Given the description of an element on the screen output the (x, y) to click on. 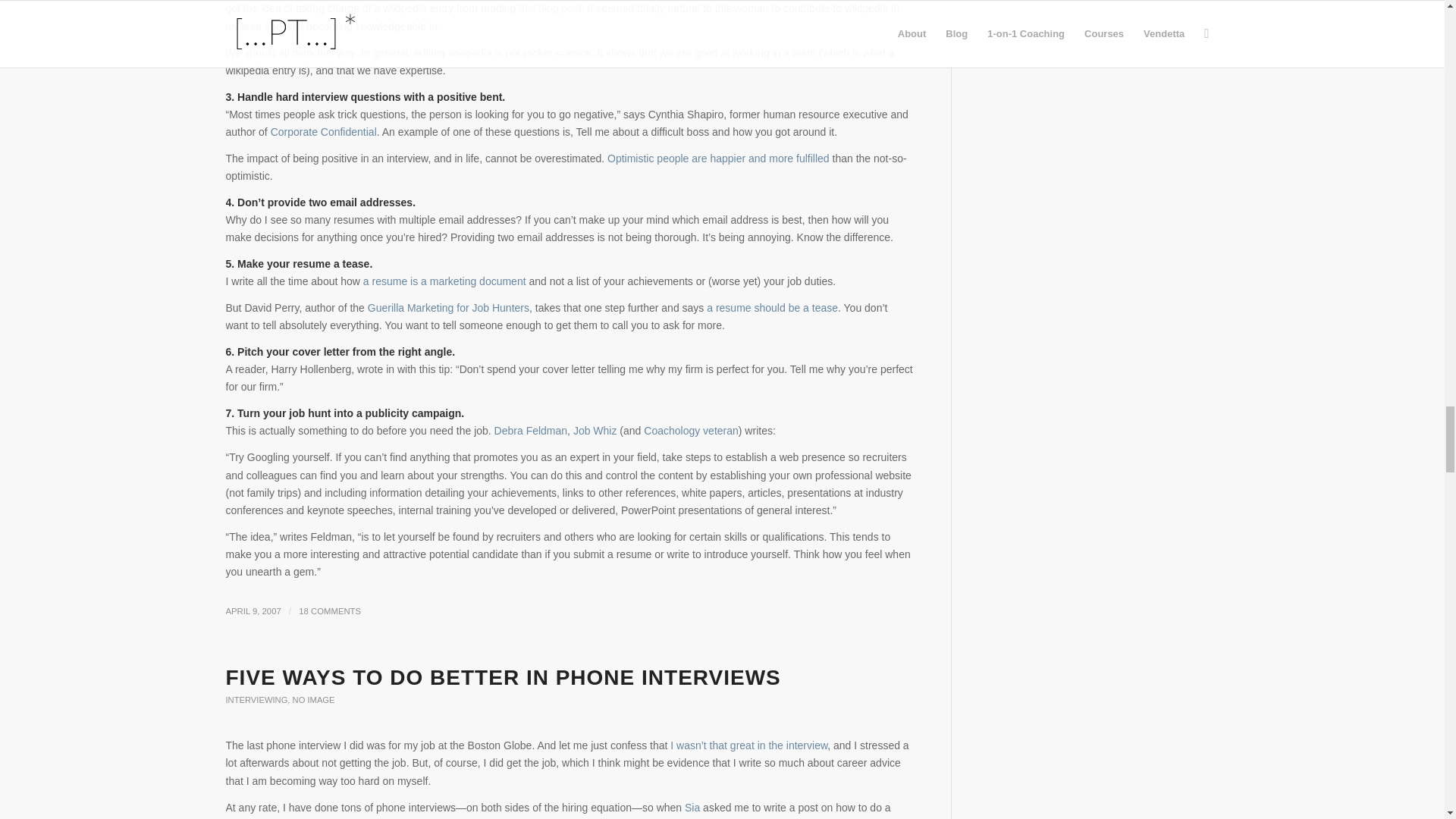
Permanent Link: Five ways to do better in phone interviews (502, 677)
